Given the description of an element on the screen output the (x, y) to click on. 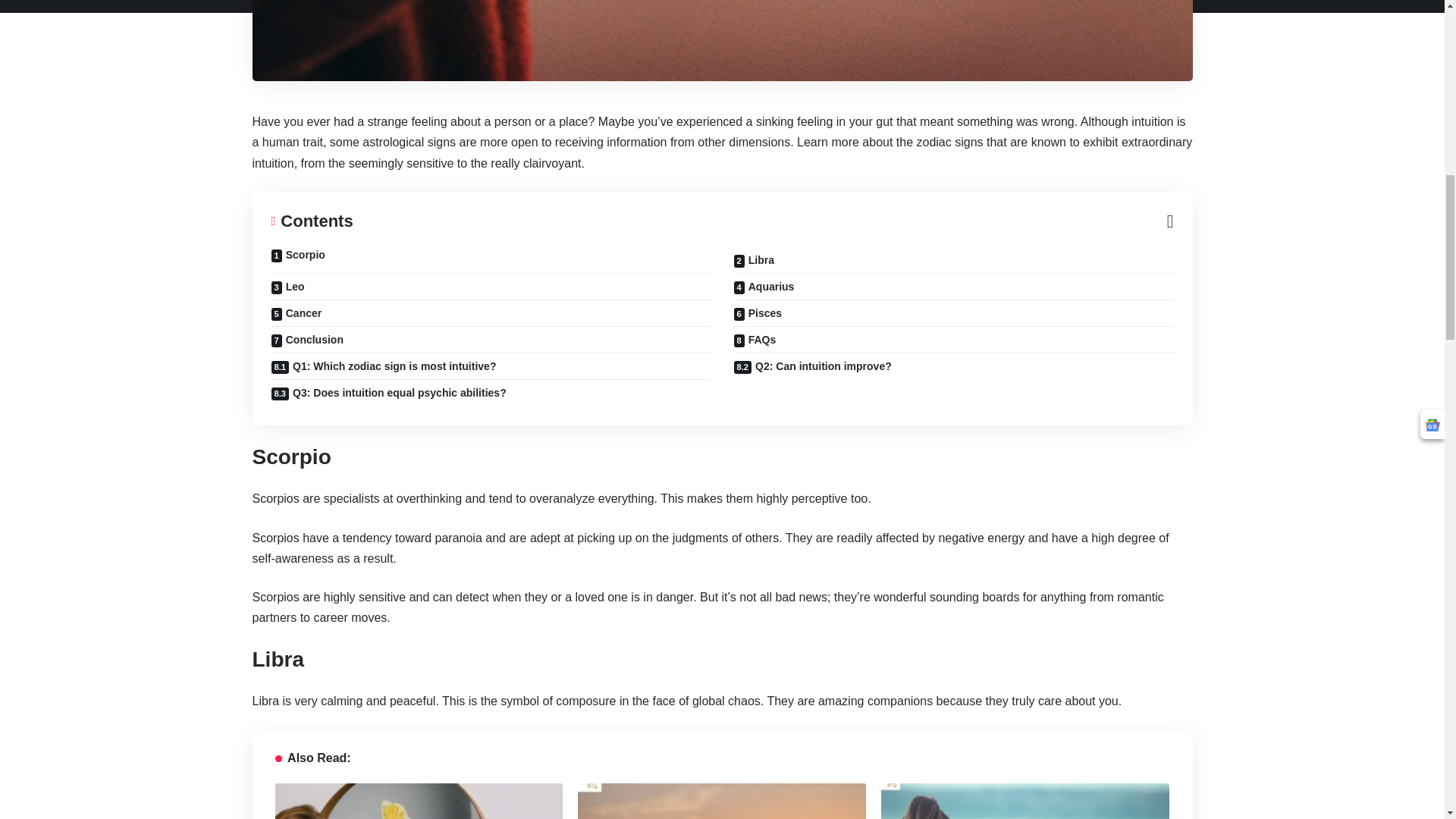
TOP 5 MOST CARING ZODIAC SIGN (1024, 800)
Q1: Which zodiac sign is most intuitive? (490, 366)
Leo (490, 286)
Cancer (490, 313)
Scorpio (490, 260)
All dreams come true for these Zodiac signs (722, 800)
Libra (953, 260)
FAQs (953, 339)
The 6 Clean-Loving Zodiac Signs (418, 800)
Conclusion (490, 339)
Q2: Can intuition improve? (953, 366)
Aquarius (953, 286)
Pisces (953, 313)
